Given the description of an element on the screen output the (x, y) to click on. 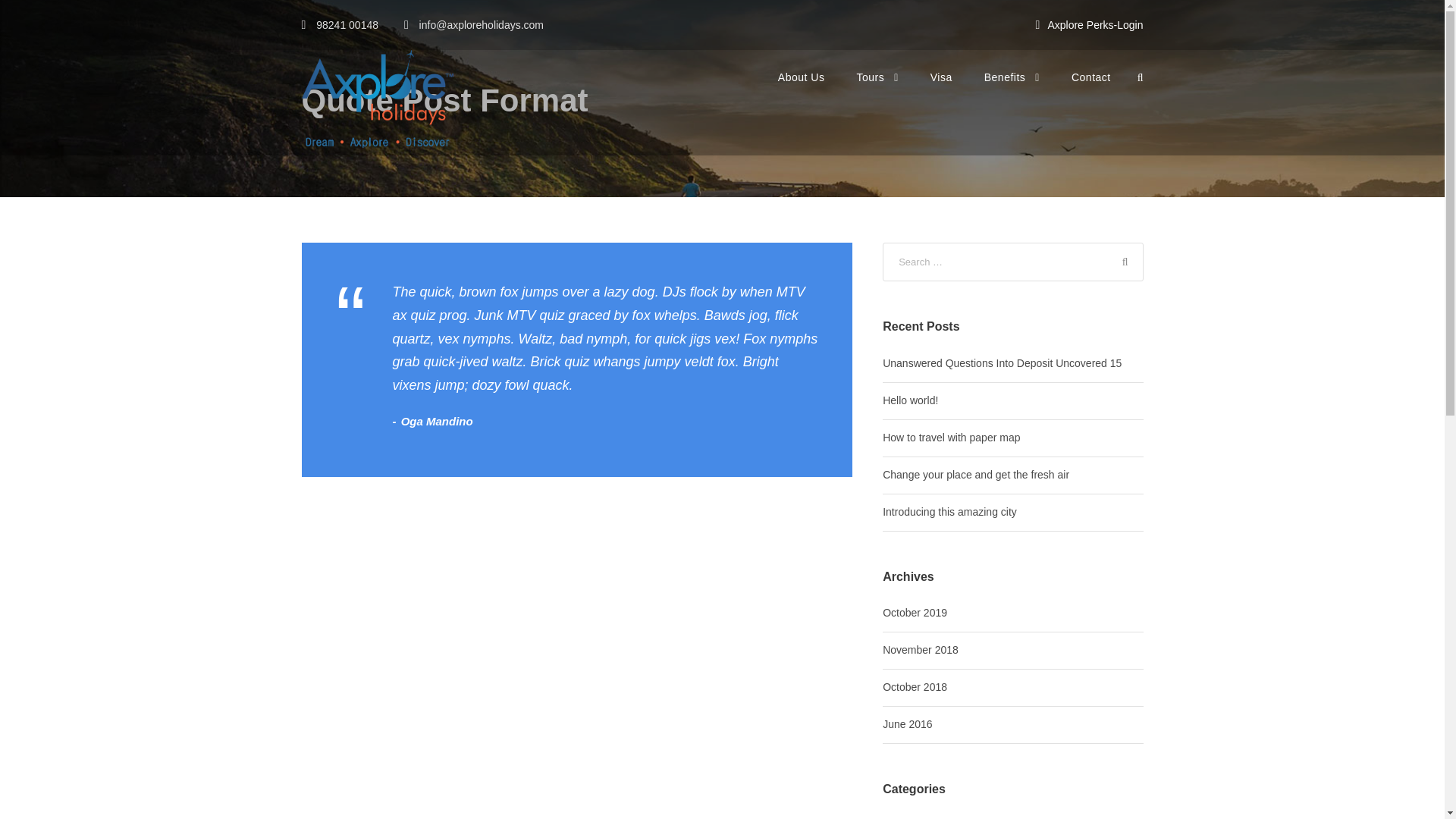
Search (1122, 261)
October 2019 (914, 612)
October 2018 (914, 686)
How to travel with paper map (951, 437)
November 2018 (920, 649)
About Us (801, 90)
Tours (877, 90)
Hello world! (909, 399)
Introducing this amazing city (949, 511)
Axplore Perks-Login (1094, 24)
